Given the description of an element on the screen output the (x, y) to click on. 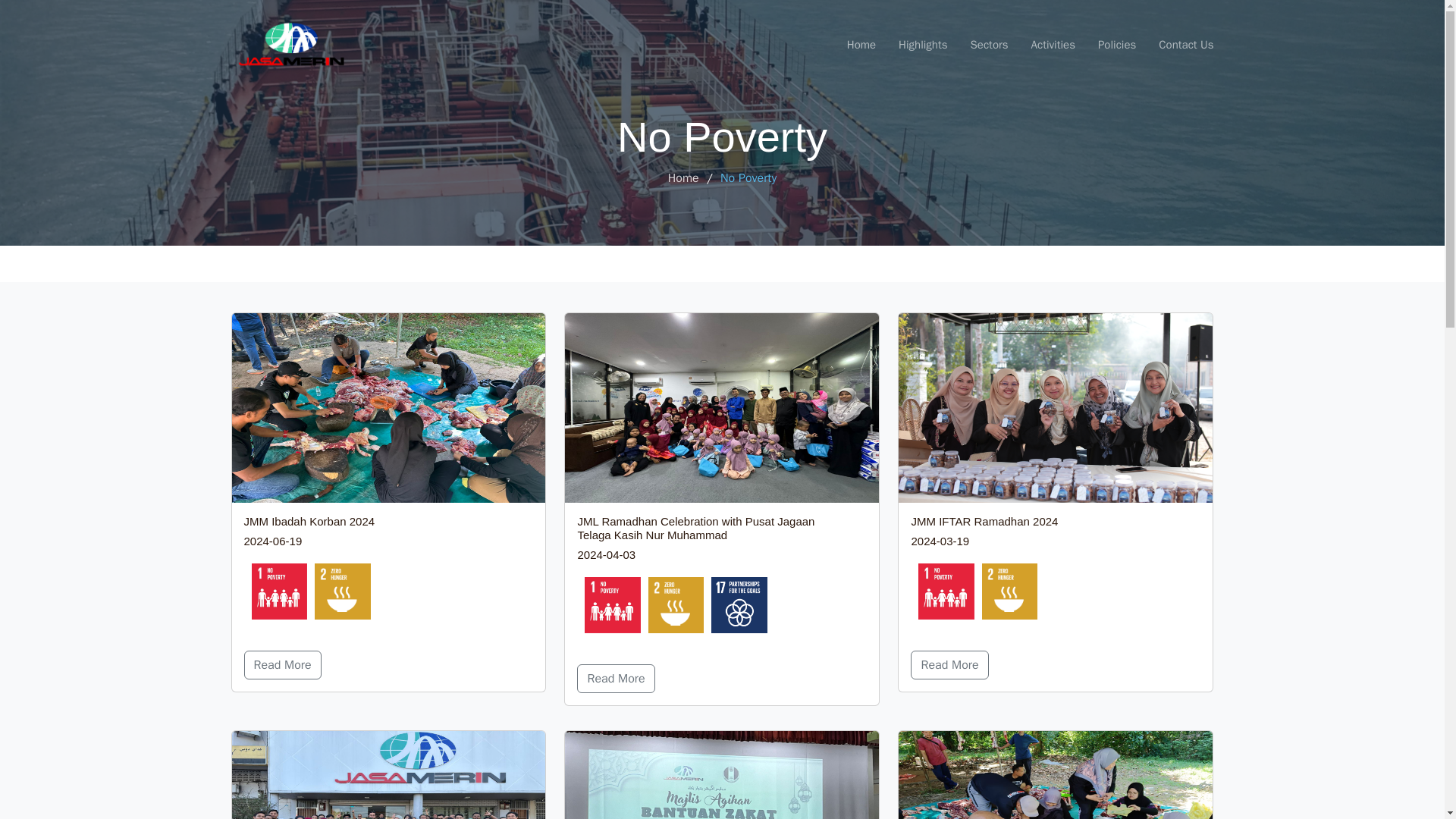
Read More (949, 664)
Read More (614, 678)
Highlights (911, 45)
Contact Us (1173, 45)
Sectors (978, 45)
Home (850, 45)
Home (683, 177)
Read More (282, 664)
Activities (1042, 45)
Policies (1105, 45)
